Given the description of an element on the screen output the (x, y) to click on. 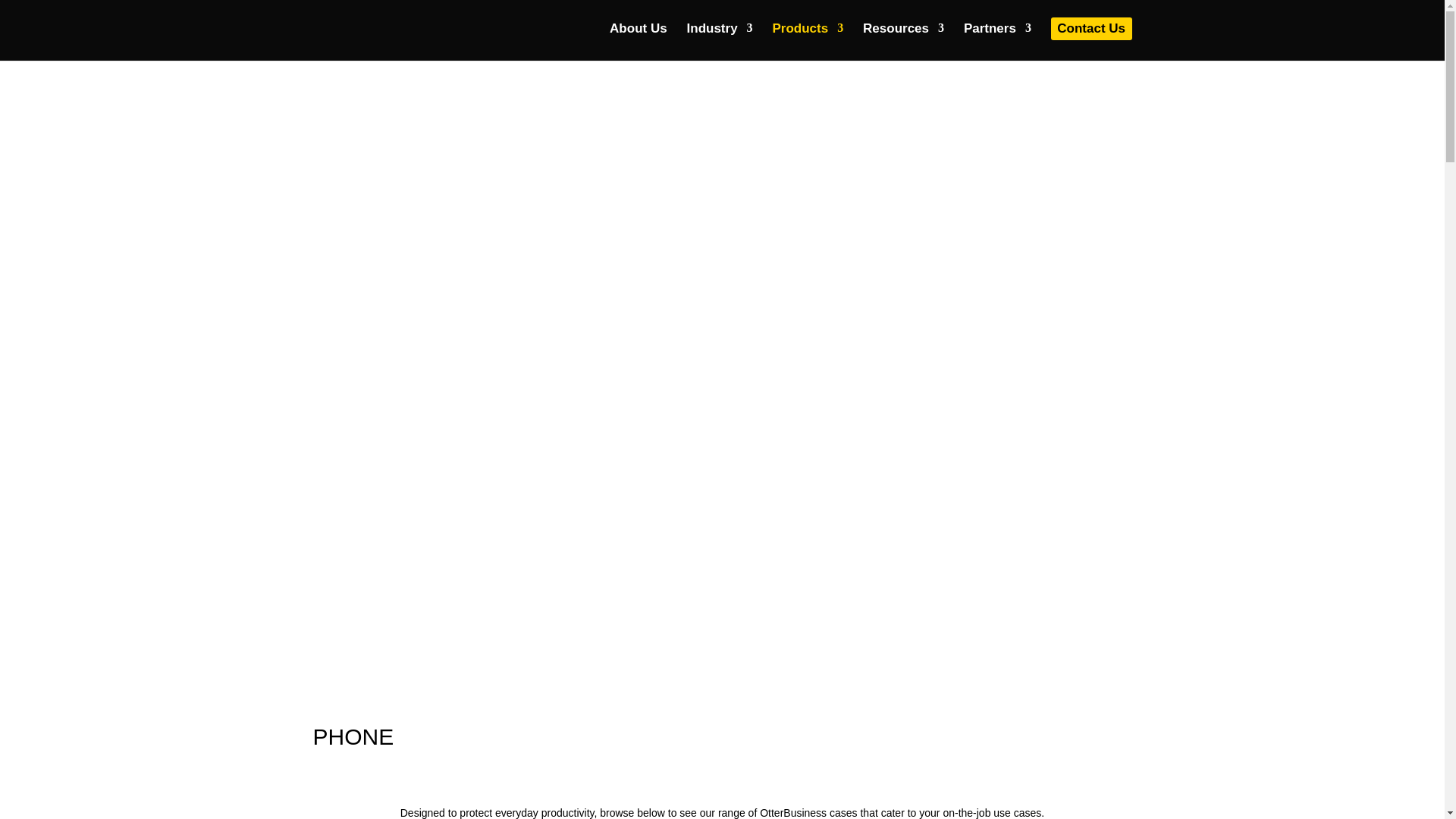
Industry (719, 36)
Resources (903, 36)
About Us (638, 36)
Contact Us (1091, 28)
Partners (996, 36)
Products (807, 36)
